Given the description of an element on the screen output the (x, y) to click on. 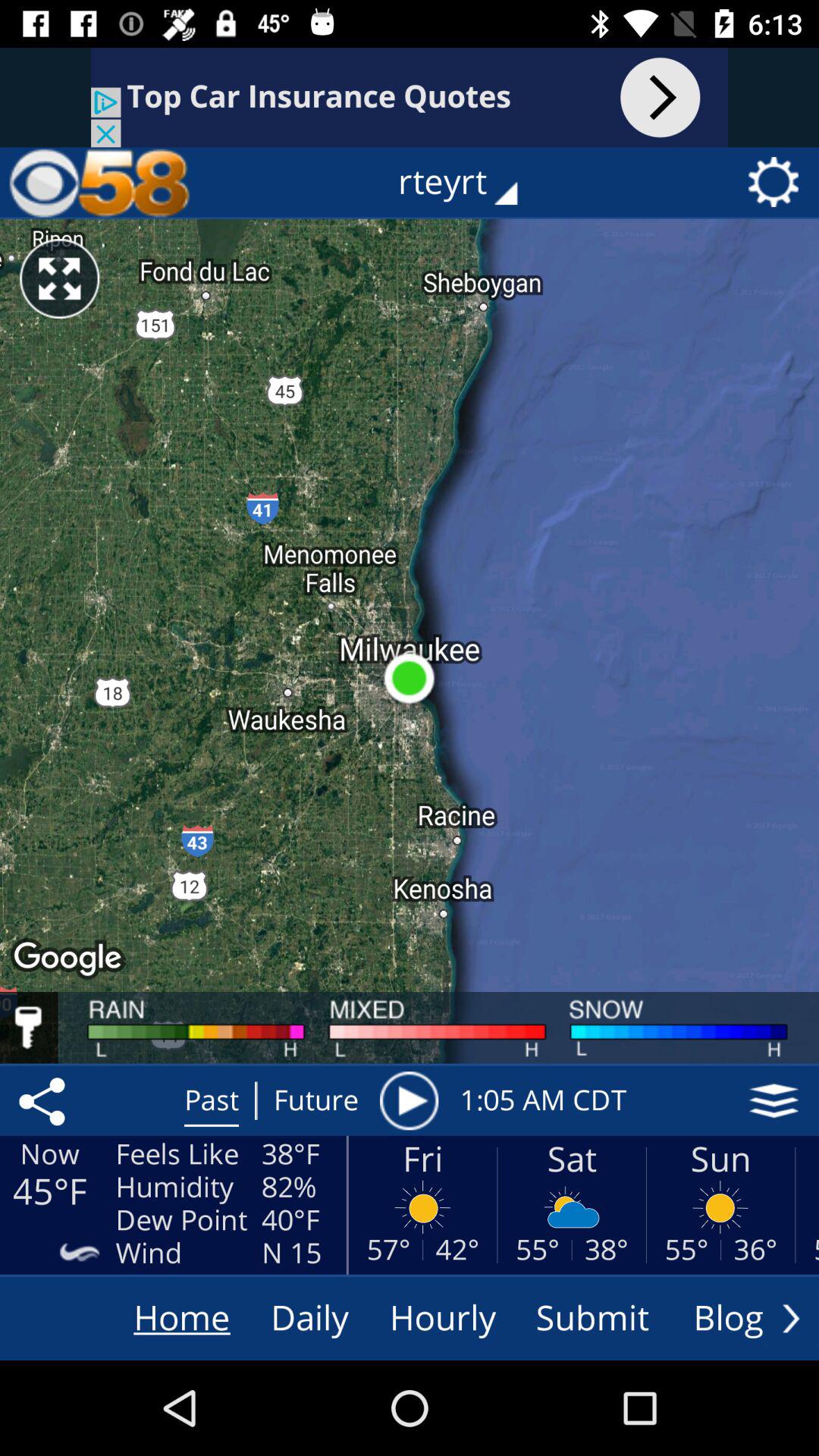
press the icon next to the 1 05 am item (409, 1100)
